Given the description of an element on the screen output the (x, y) to click on. 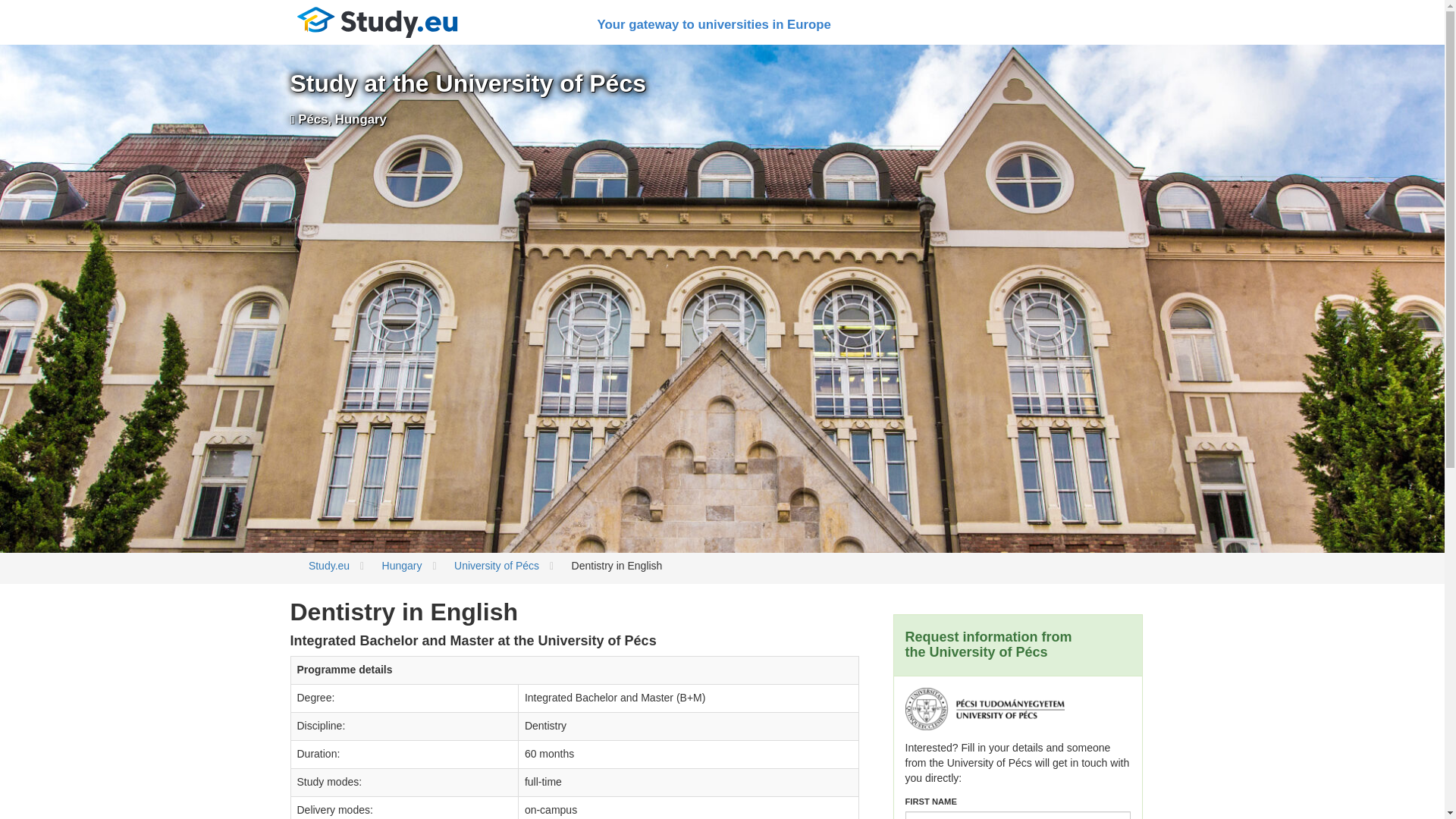
Study.eu (328, 565)
Study.eu (376, 22)
Hungary (401, 565)
